Given the description of an element on the screen output the (x, y) to click on. 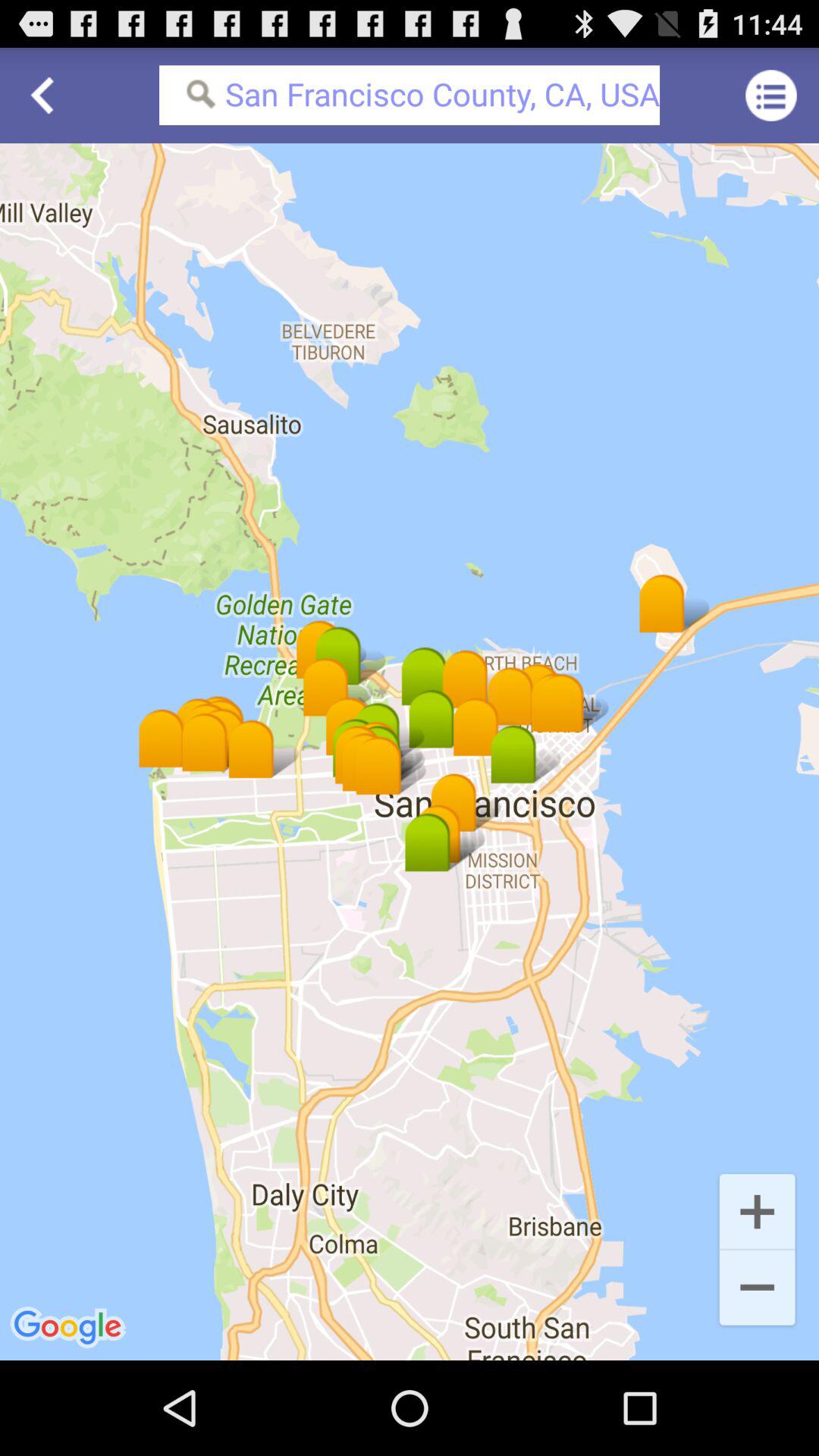
launch the icon at the center (409, 751)
